Given the description of an element on the screen output the (x, y) to click on. 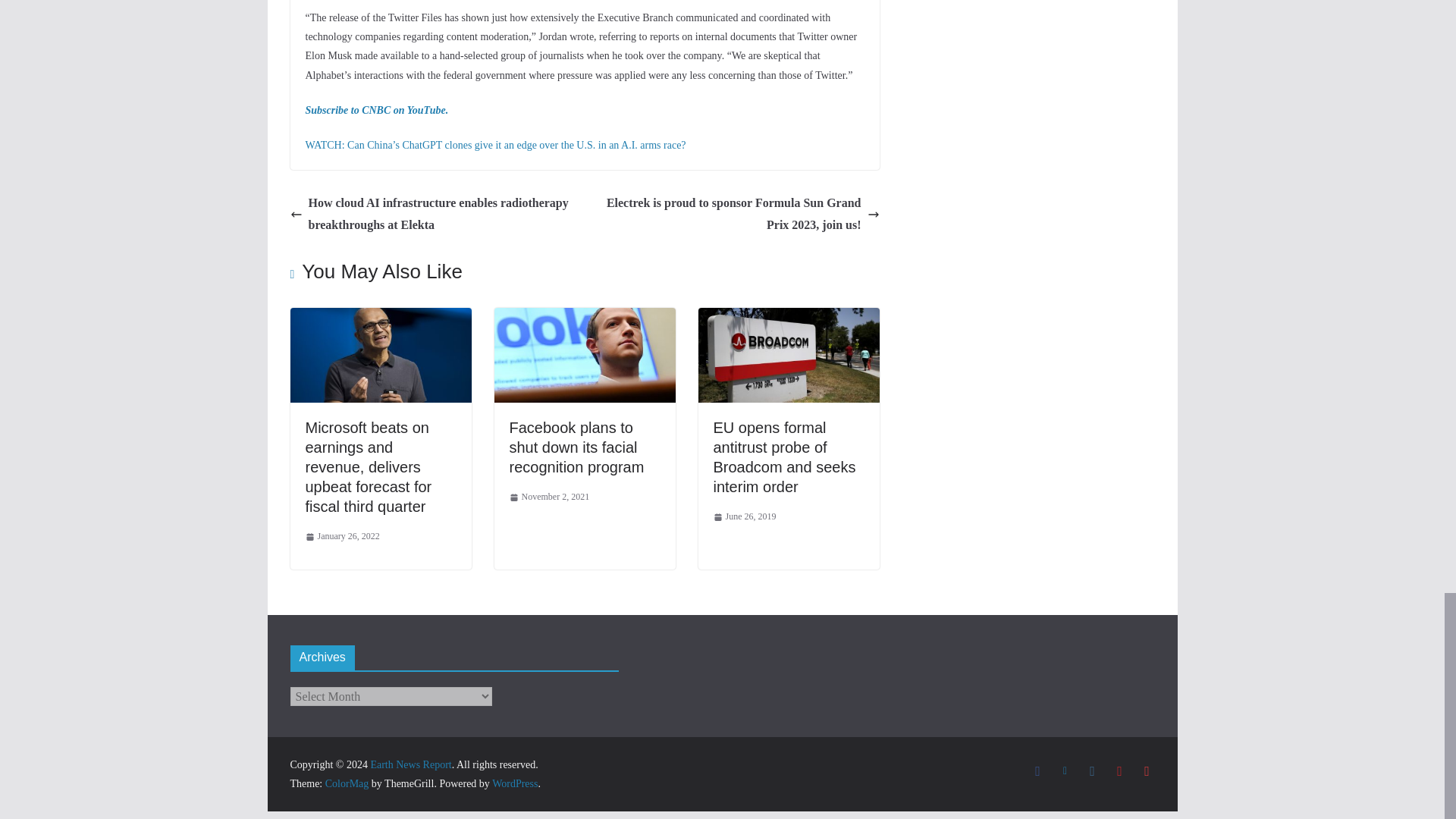
Facebook plans to shut down its facial recognition program (585, 318)
8:02 pm (549, 497)
Facebook plans to shut down its facial recognition program (577, 447)
4:12 am (341, 536)
